Given the description of an element on the screen output the (x, y) to click on. 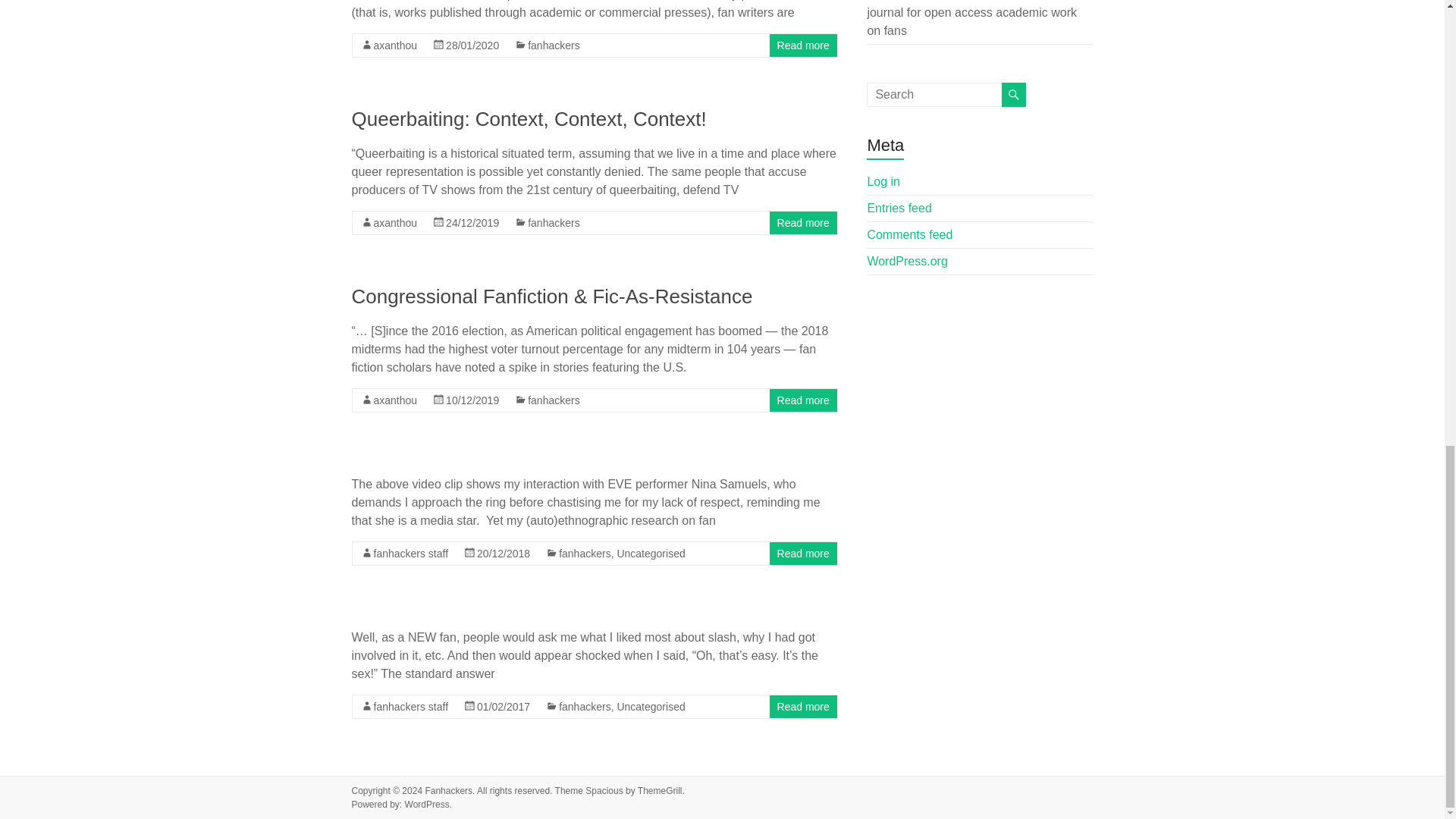
Read more (803, 399)
axanthou (394, 223)
fanhackers (553, 45)
Queerbaiting: Context, Context, Context! (529, 118)
01:50 (472, 399)
fanhackers (553, 223)
Read more (803, 223)
00:29 (472, 223)
Read more (803, 45)
10:54 (472, 45)
